Given the description of an element on the screen output the (x, y) to click on. 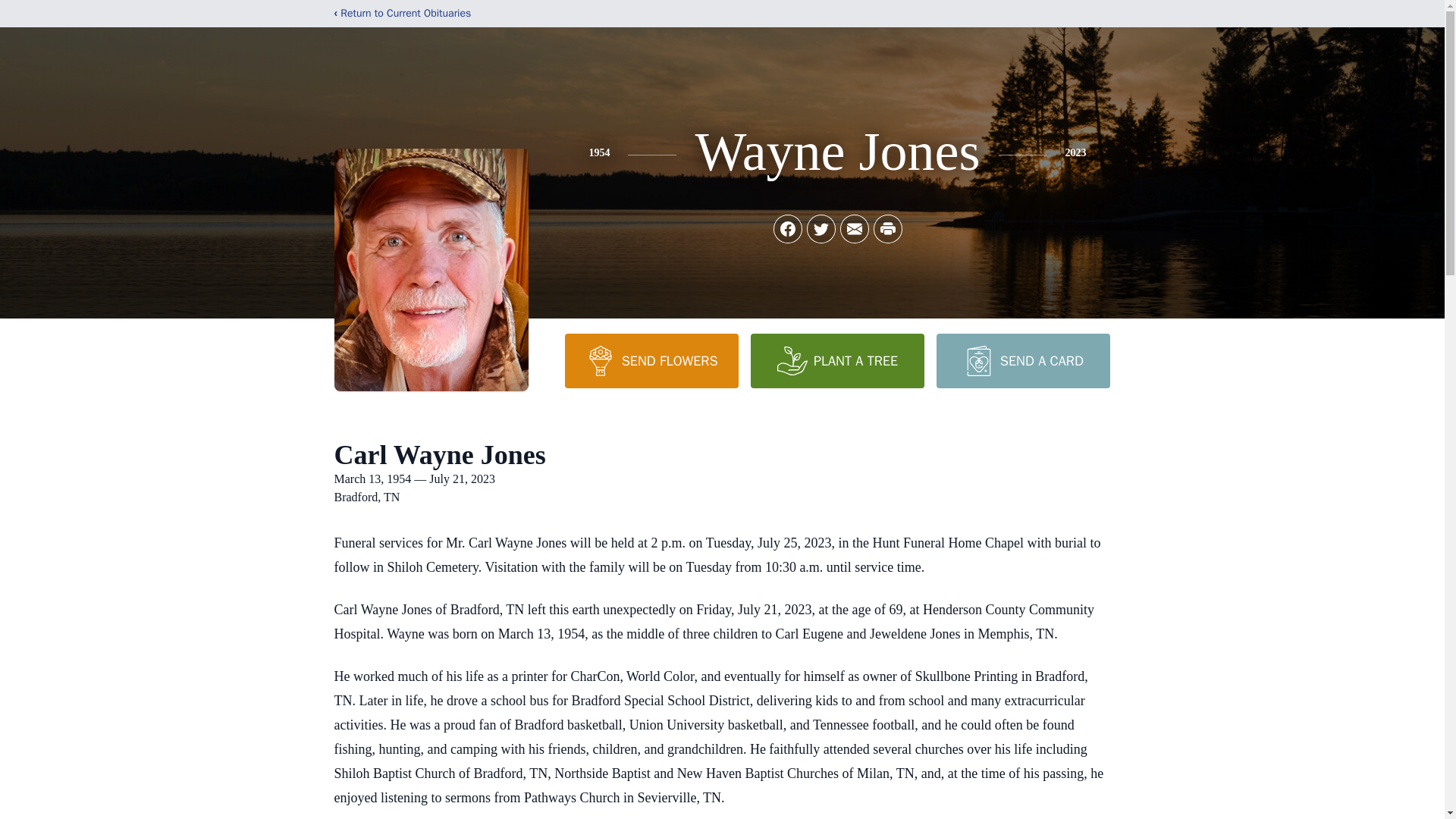
SEND A CARD (1022, 360)
SEND FLOWERS (651, 360)
PLANT A TREE (837, 360)
